Given the description of an element on the screen output the (x, y) to click on. 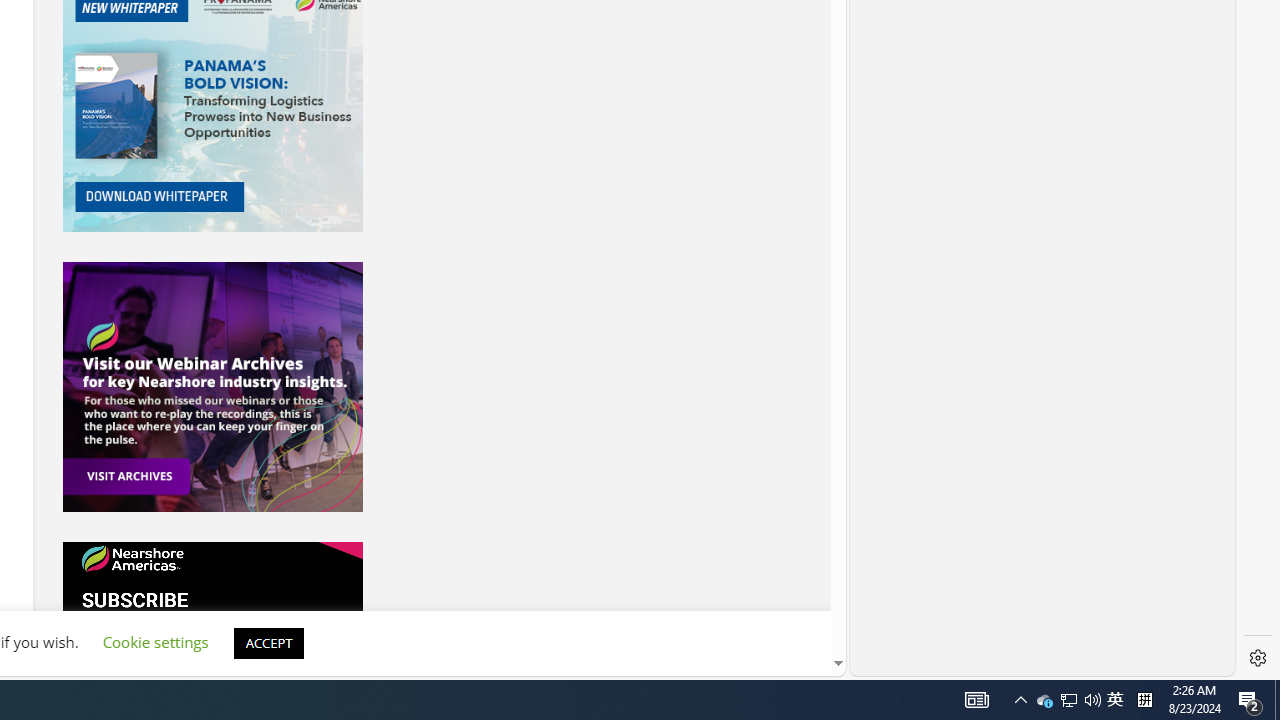
ACCEPT (268, 642)
Events-Banner-Ad.jpg (212, 386)
Events-Banner-Ad.jpg (212, 386)
Cookie settings (155, 642)
